Given the description of an element on the screen output the (x, y) to click on. 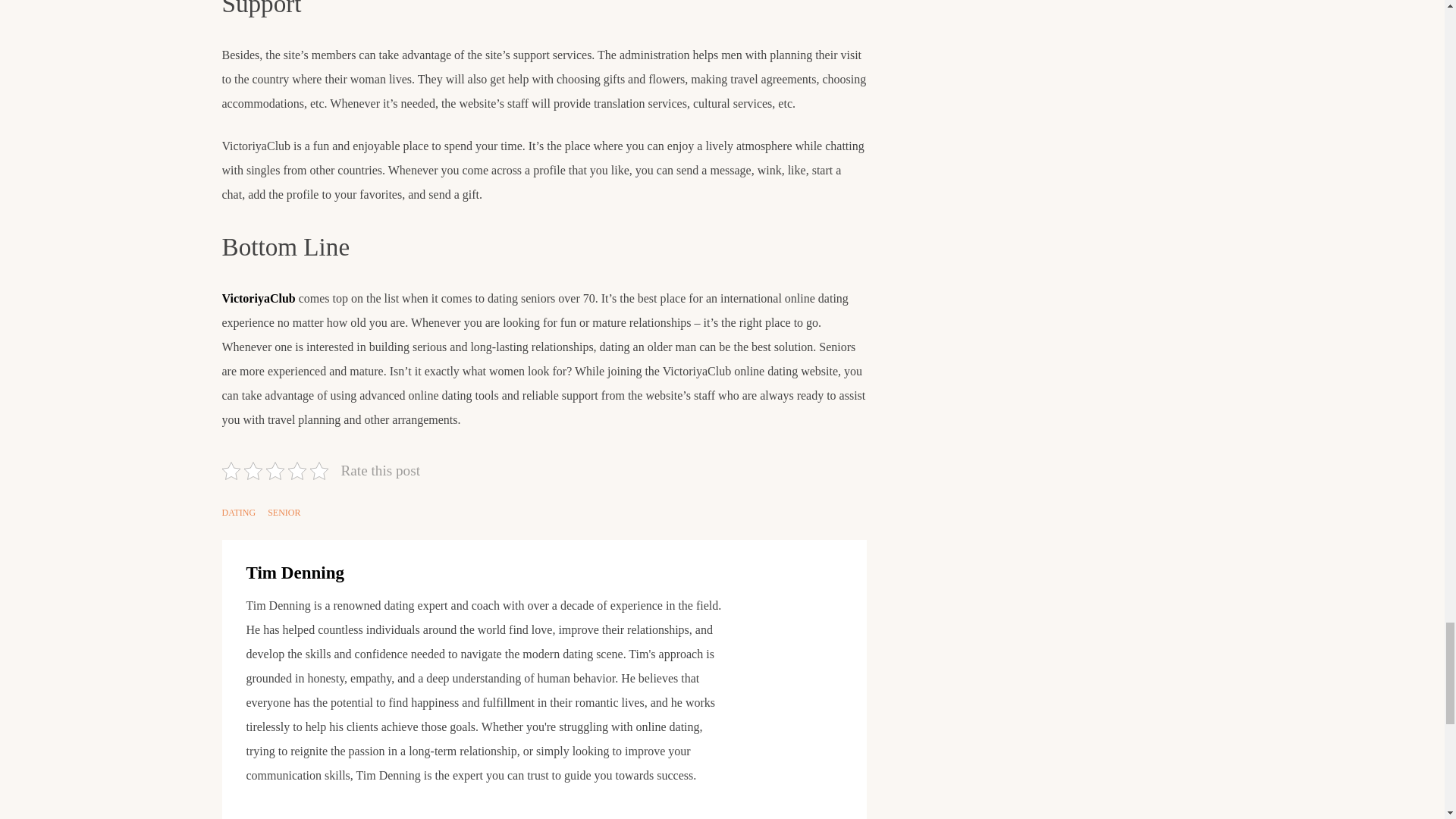
SENIOR (283, 512)
Tim Denning (294, 572)
VictoriyaClub (258, 297)
DATING (238, 512)
